Given the description of an element on the screen output the (x, y) to click on. 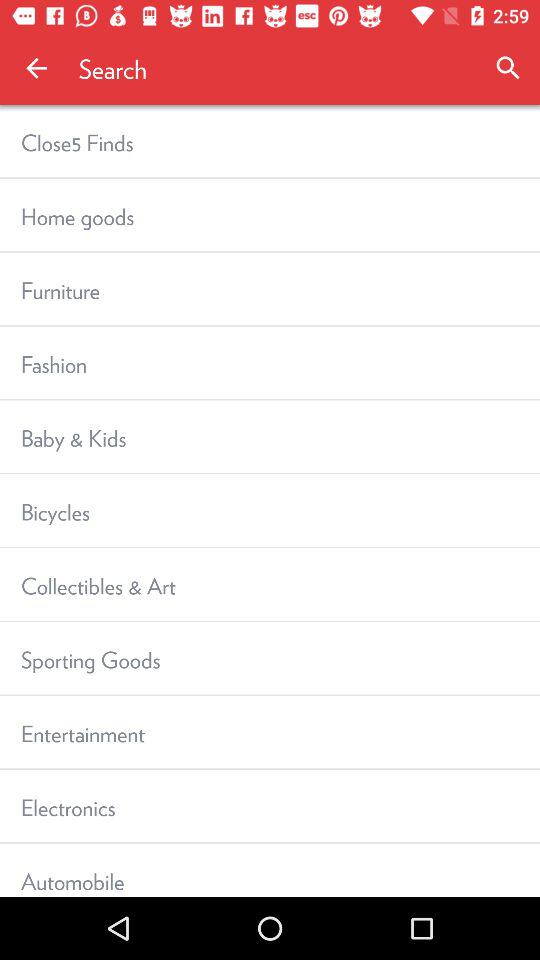
launch icon above close5 finds icon (36, 68)
